Given the description of an element on the screen output the (x, y) to click on. 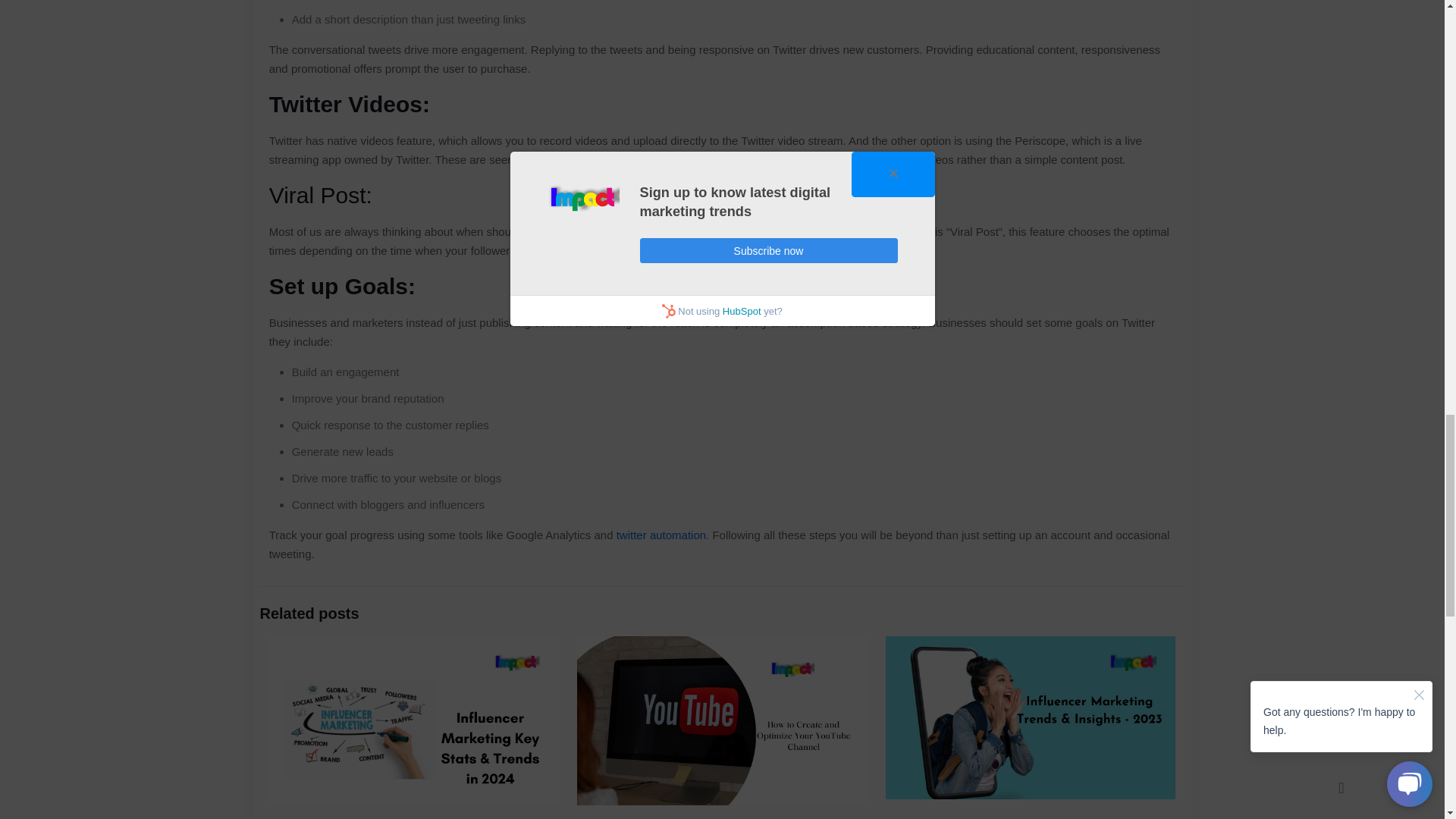
twitter automation (660, 534)
